Given the description of an element on the screen output the (x, y) to click on. 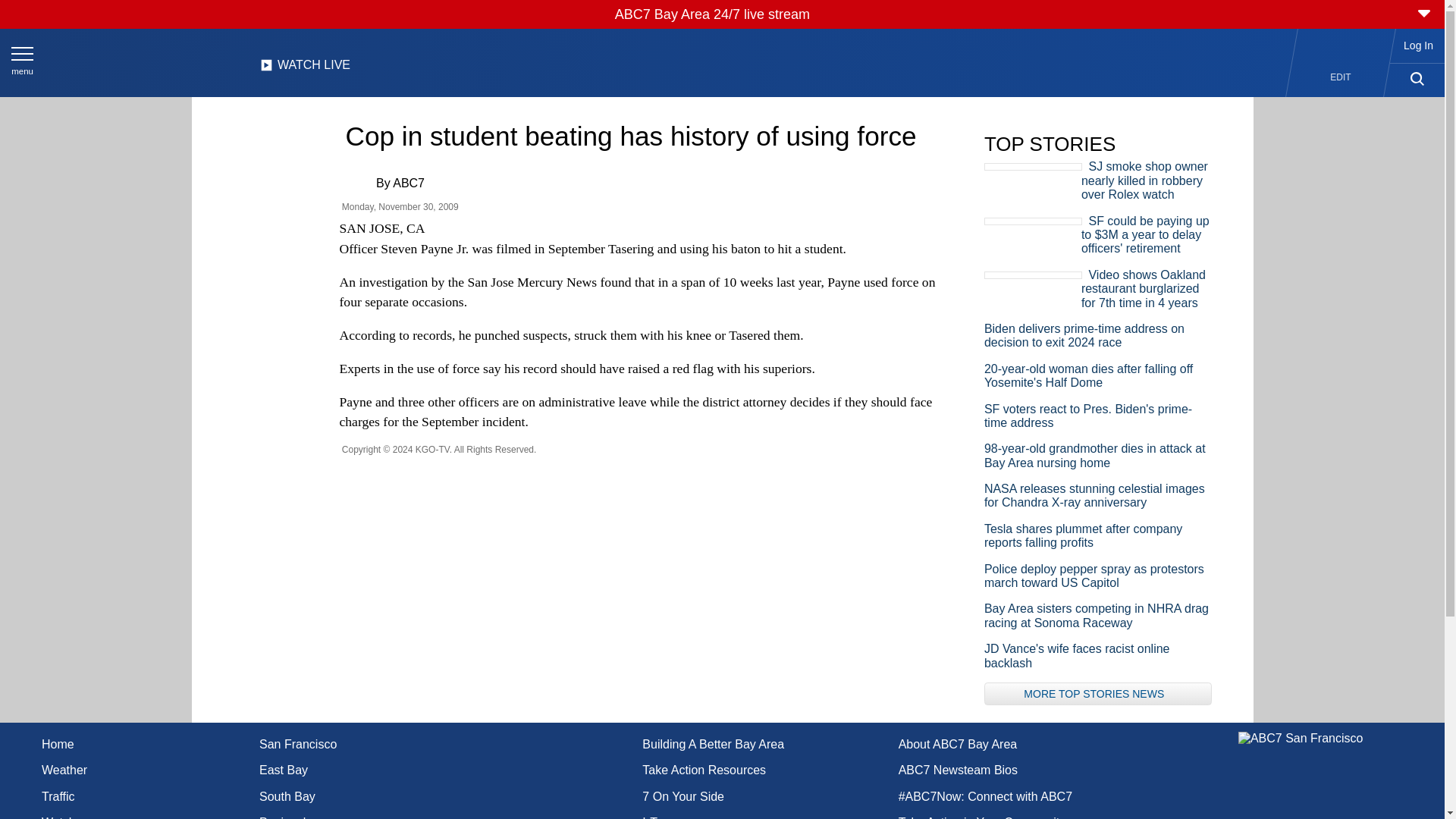
WATCH LIVE (305, 69)
EDIT (1340, 77)
